Given the description of an element on the screen output the (x, y) to click on. 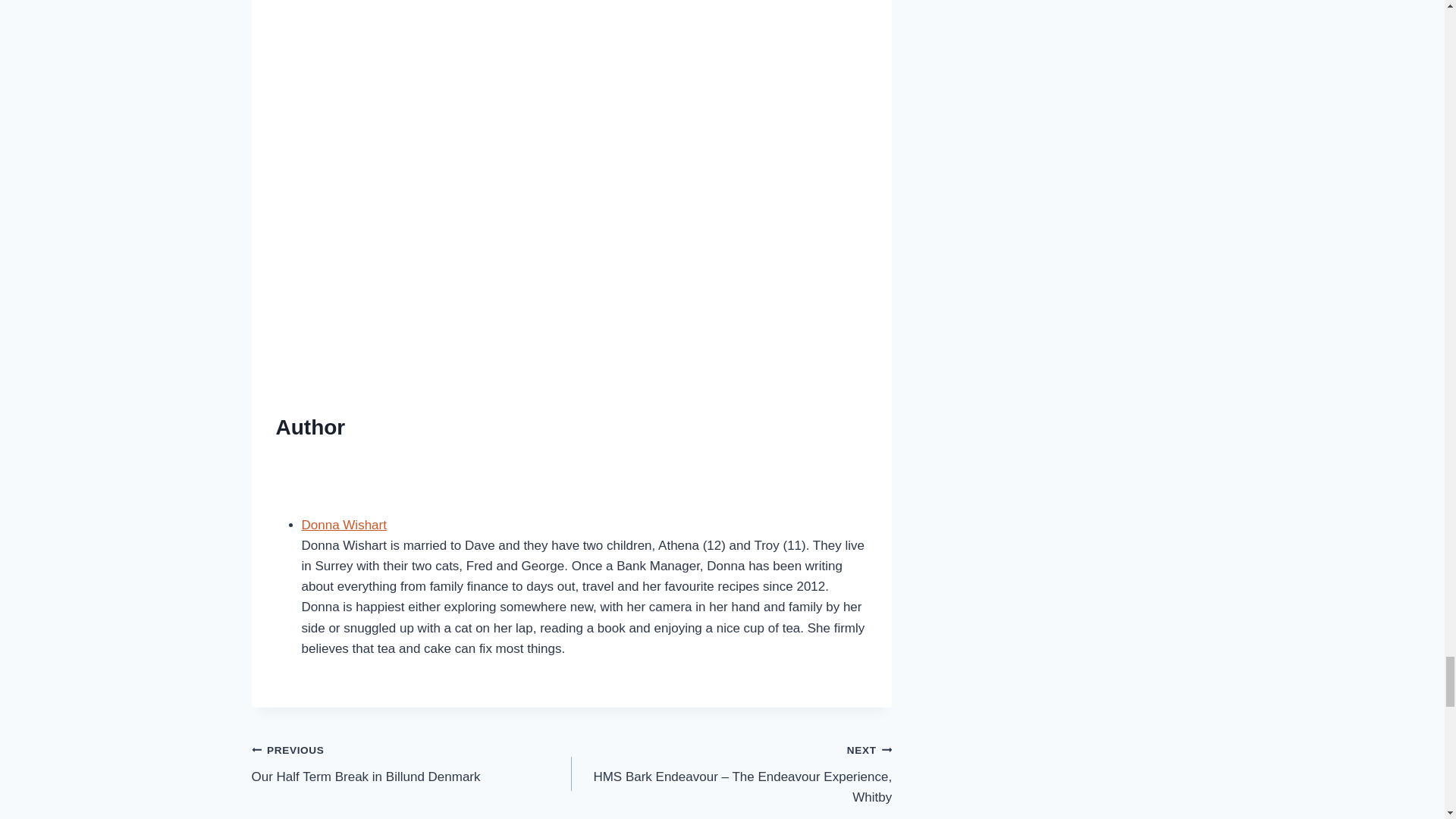
Donna Wishart (411, 763)
Donna Wishart (344, 524)
